Given the description of an element on the screen output the (x, y) to click on. 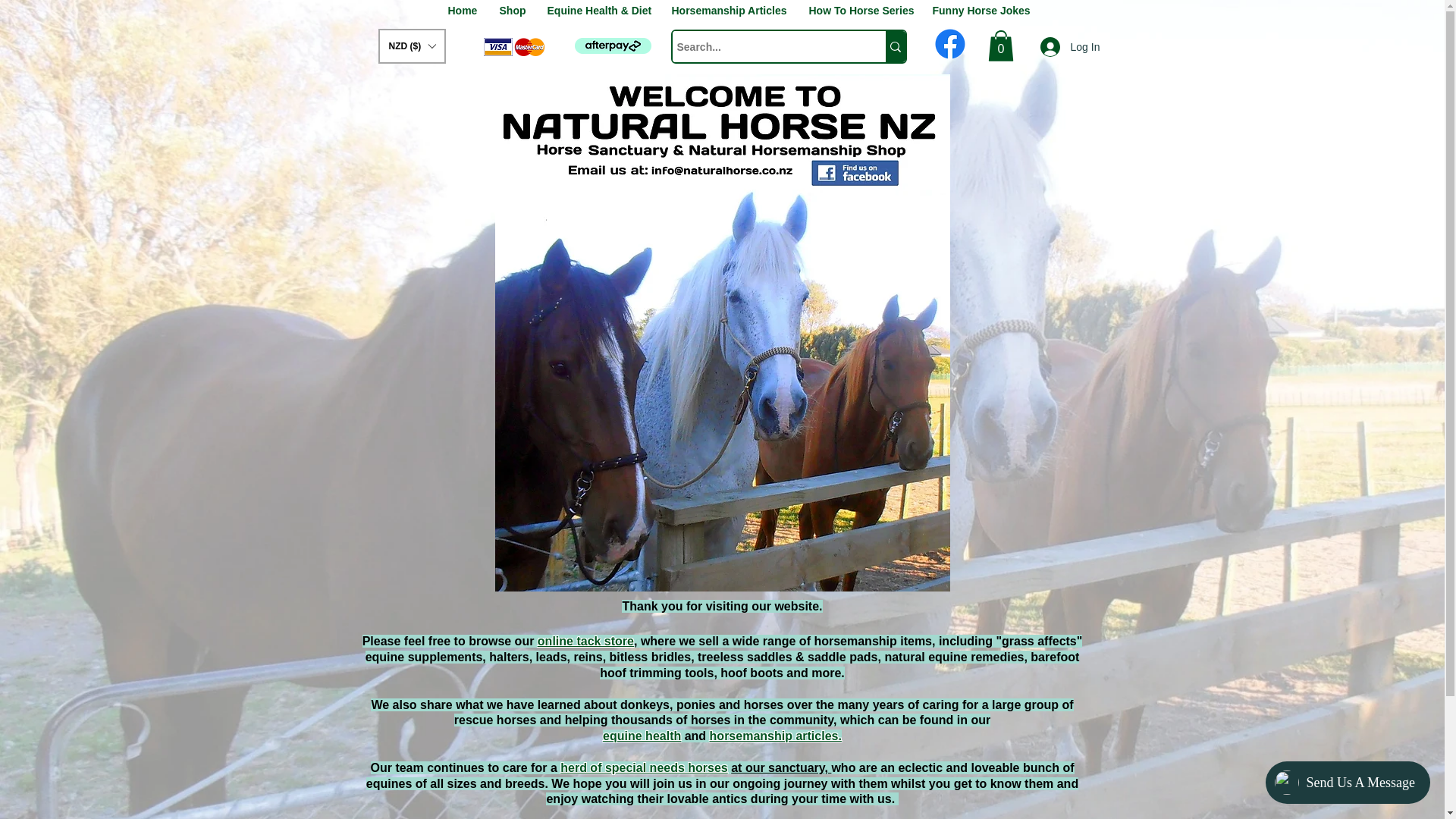
Afterpay Horse Tack at Natural Horse NZ (612, 45)
Home (461, 10)
We accept visa and matercard at Natural Horse NZ (513, 46)
Shop (511, 10)
